Given the description of an element on the screen output the (x, y) to click on. 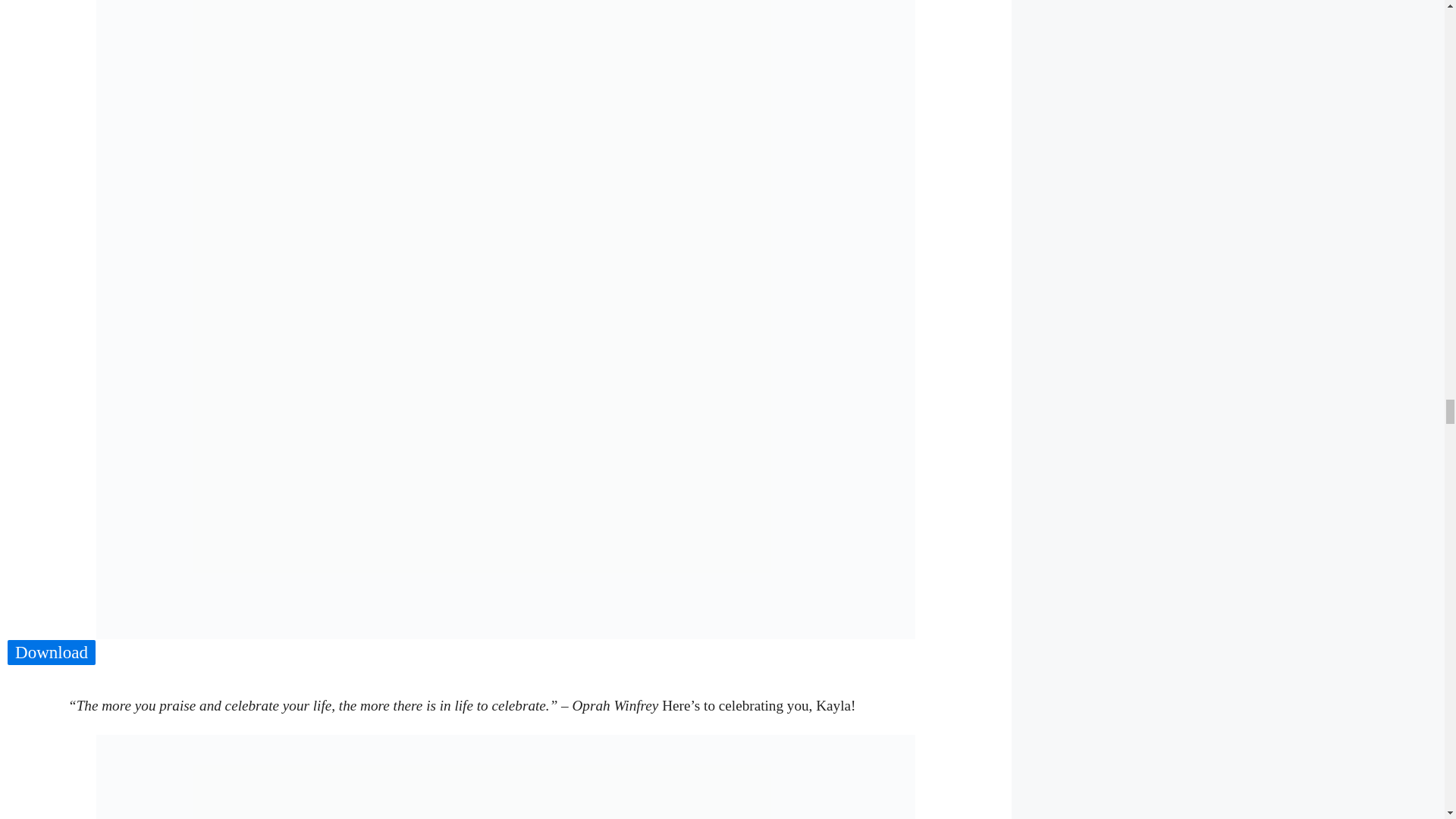
Download (51, 652)
Download (51, 652)
